Given the description of an element on the screen output the (x, y) to click on. 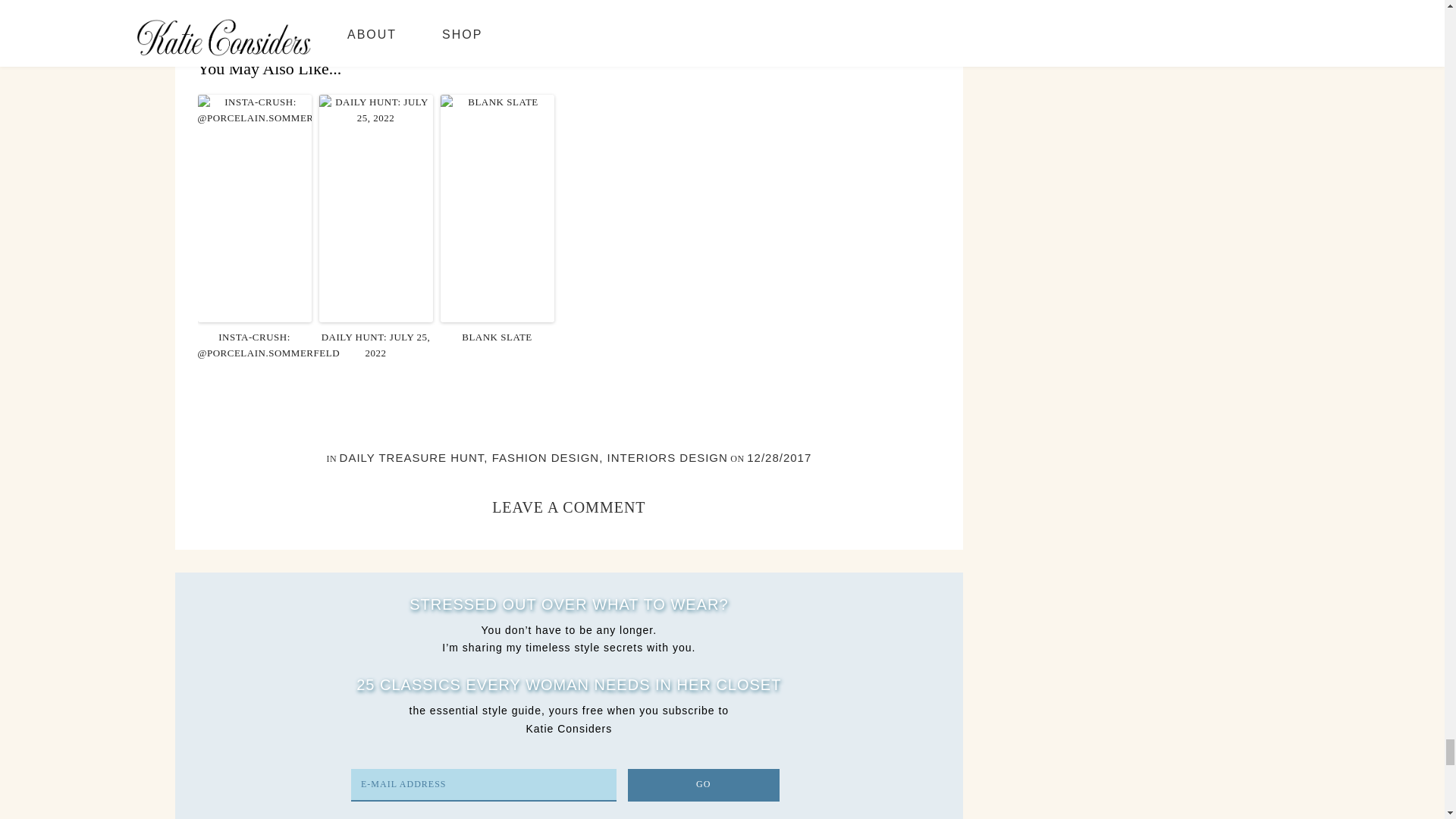
Go (702, 785)
